Given the description of an element on the screen output the (x, y) to click on. 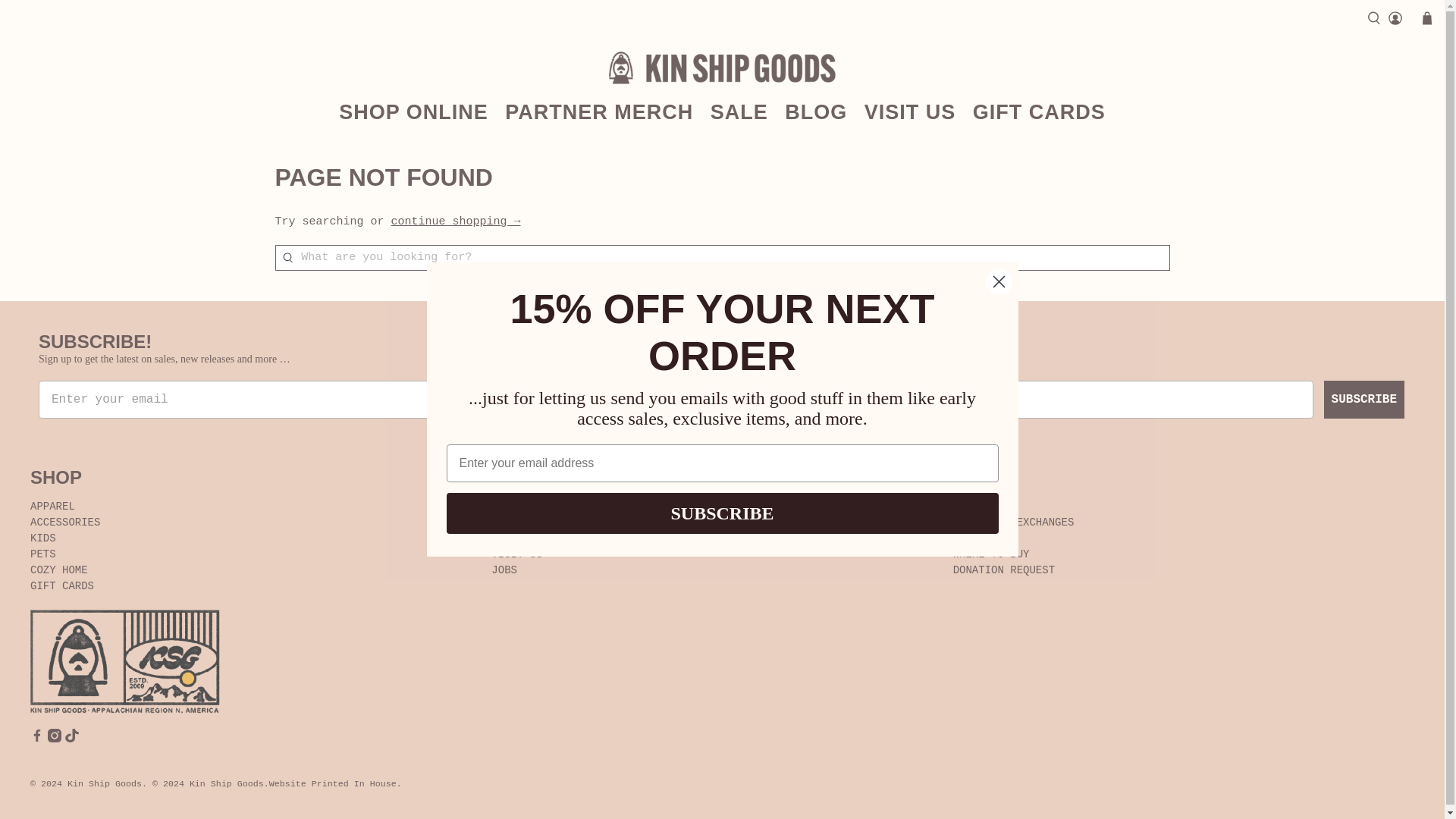
SALE (739, 111)
Kin Ship Goods (721, 67)
Kin Ship Goods on Facebook (36, 739)
Kin Ship Goods (124, 661)
VISIT US (909, 111)
Close dialog 2 (998, 281)
SHOP ONLINE (413, 111)
GIFT CARDS (1039, 111)
Kin Ship Goods on Instagram (54, 739)
Kin Ship Goods on TikTok (71, 739)
BLOG (816, 111)
PARTNER MERCH (598, 111)
